Given the description of an element on the screen output the (x, y) to click on. 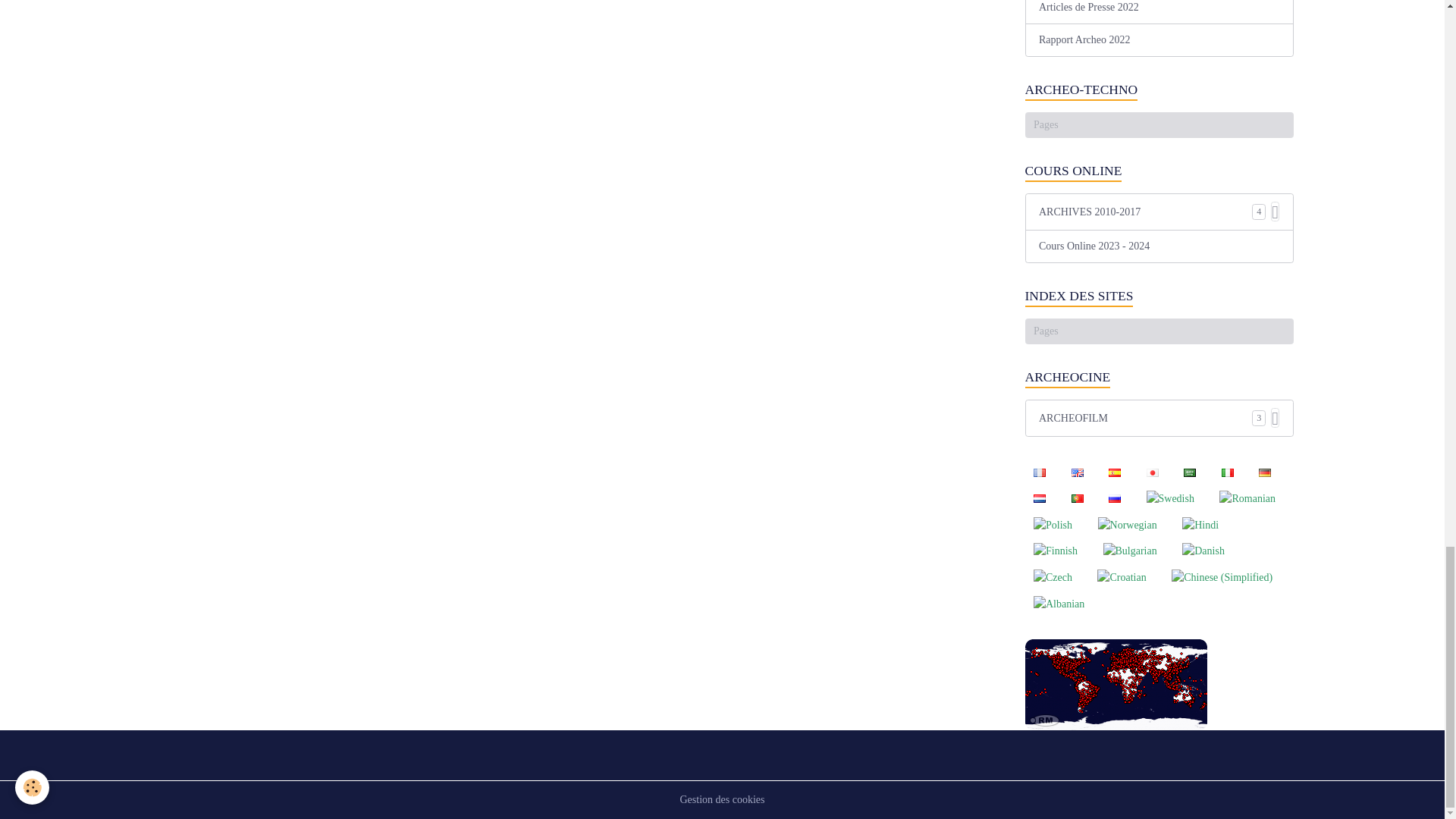
Bulgarian (1130, 550)
English (1077, 472)
Deutsch (1264, 472)
Nederlands (1039, 498)
Russian (1114, 498)
Swedish (1169, 497)
Arabic (1189, 472)
Japanese (1152, 472)
Portuguesa (1077, 498)
Italiano (1226, 472)
